Given the description of an element on the screen output the (x, y) to click on. 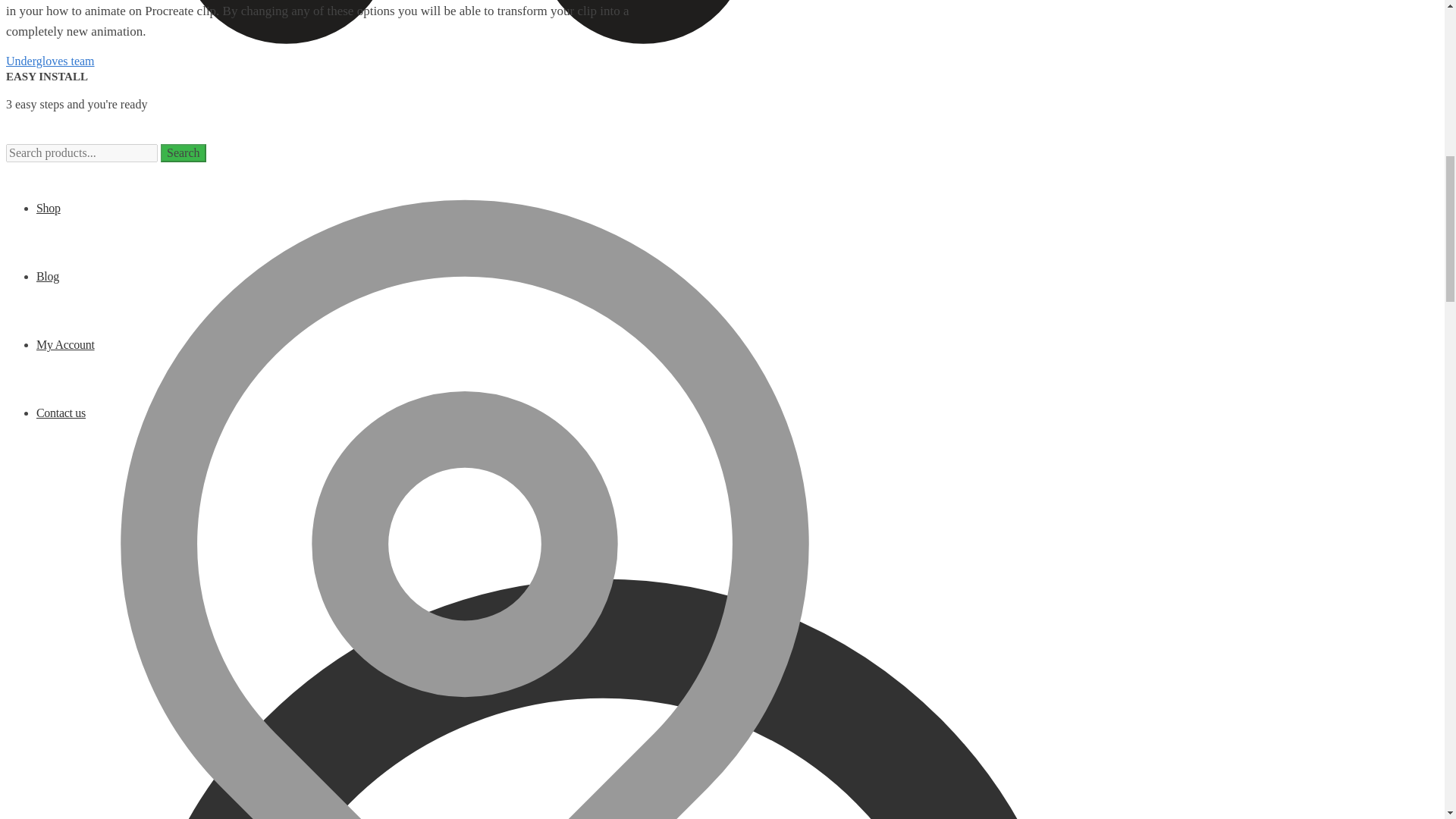
Undergloves team (49, 60)
Shop (48, 207)
Contact us (60, 412)
Blog (47, 276)
My Account (65, 344)
Search (183, 153)
View your shopping cart (464, 65)
